Given the description of an element on the screen output the (x, y) to click on. 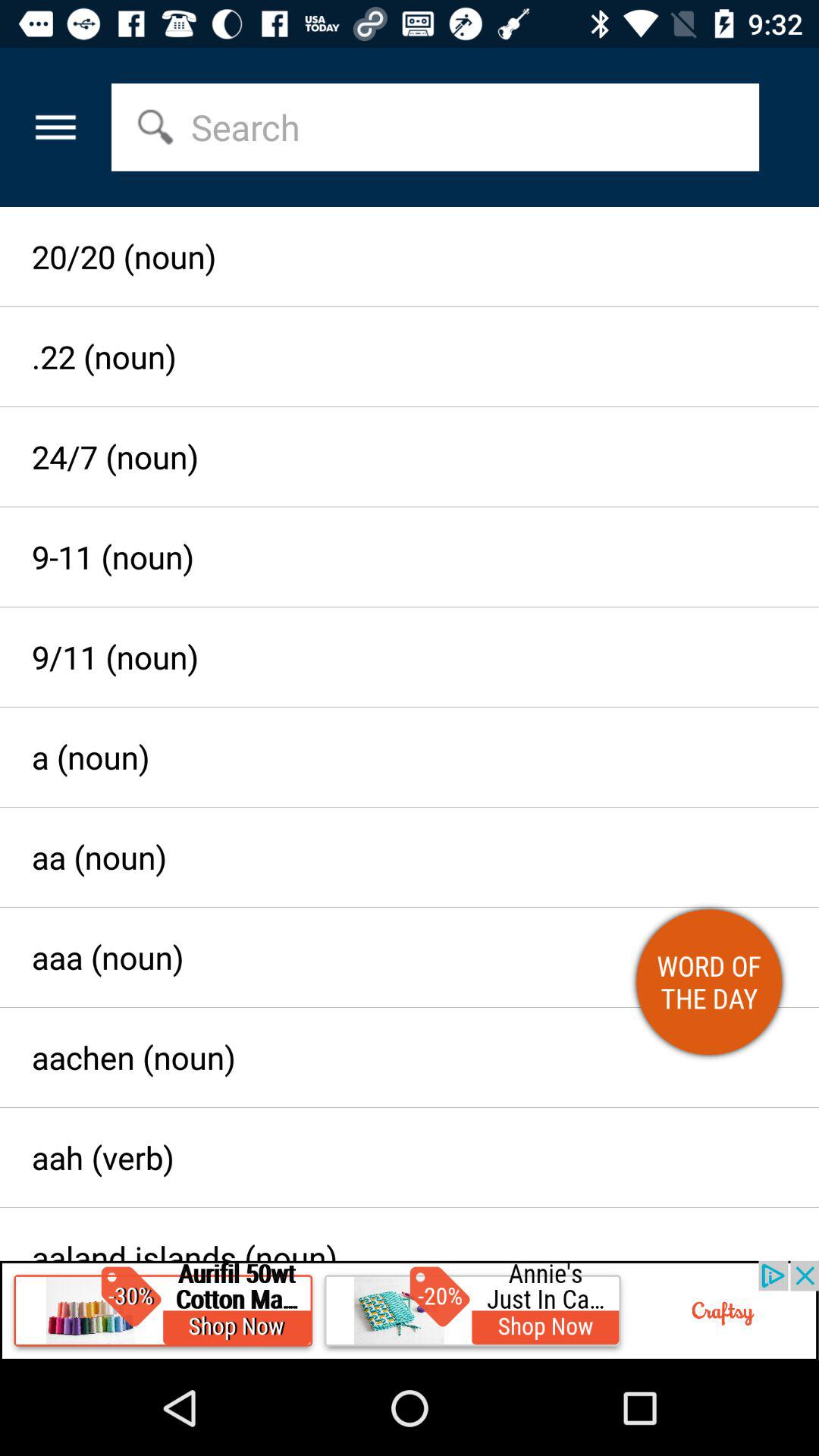
shows online shop option (409, 1310)
